Given the description of an element on the screen output the (x, y) to click on. 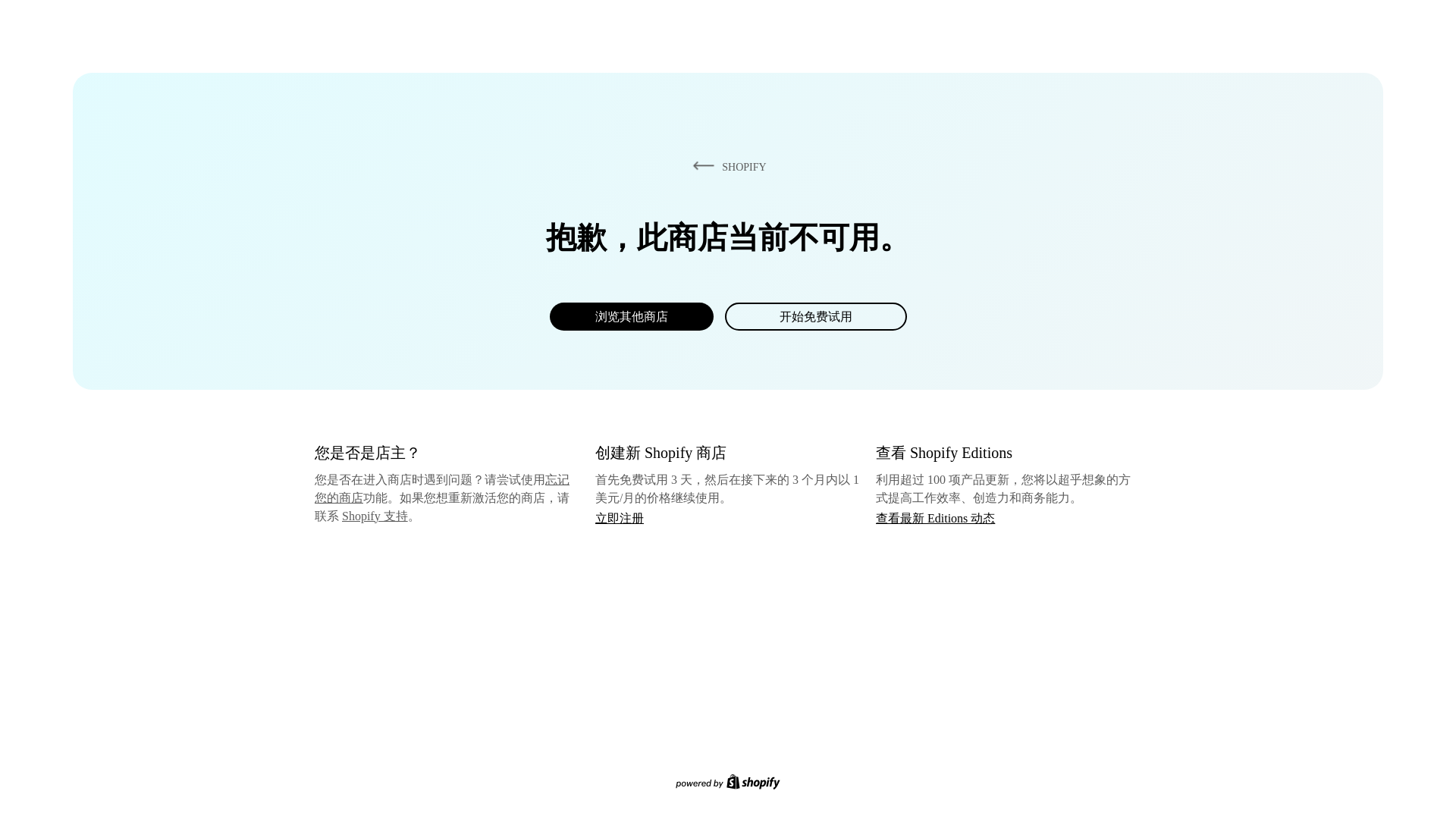
SHOPIFY (726, 166)
